Given the description of an element on the screen output the (x, y) to click on. 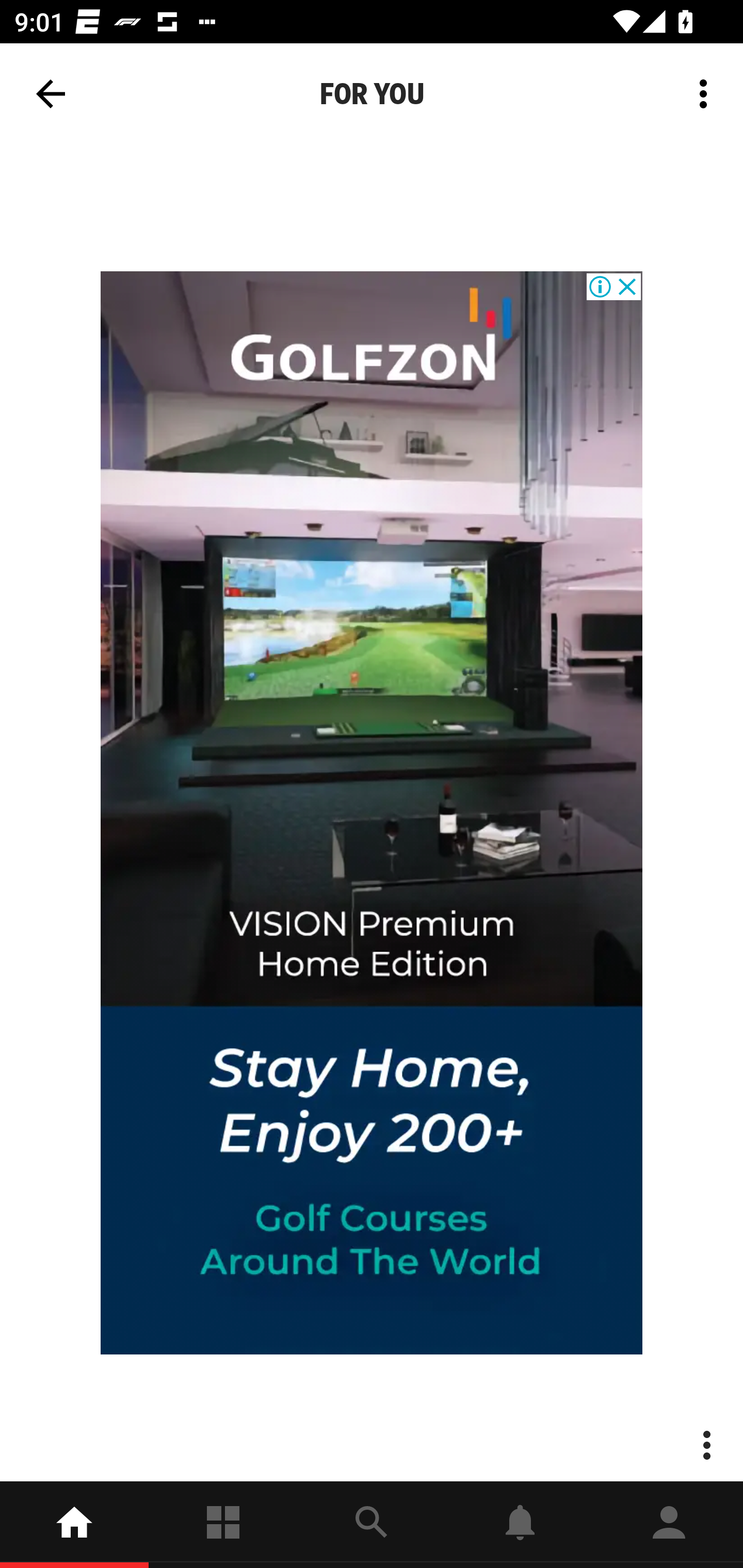
Back (50, 93)
FOR YOU (371, 93)
More options (706, 93)
golfzonhk (371, 812)
home (74, 1524)
Following (222, 1524)
explore (371, 1524)
Notifications (519, 1524)
Profile (668, 1524)
